Given the description of an element on the screen output the (x, y) to click on. 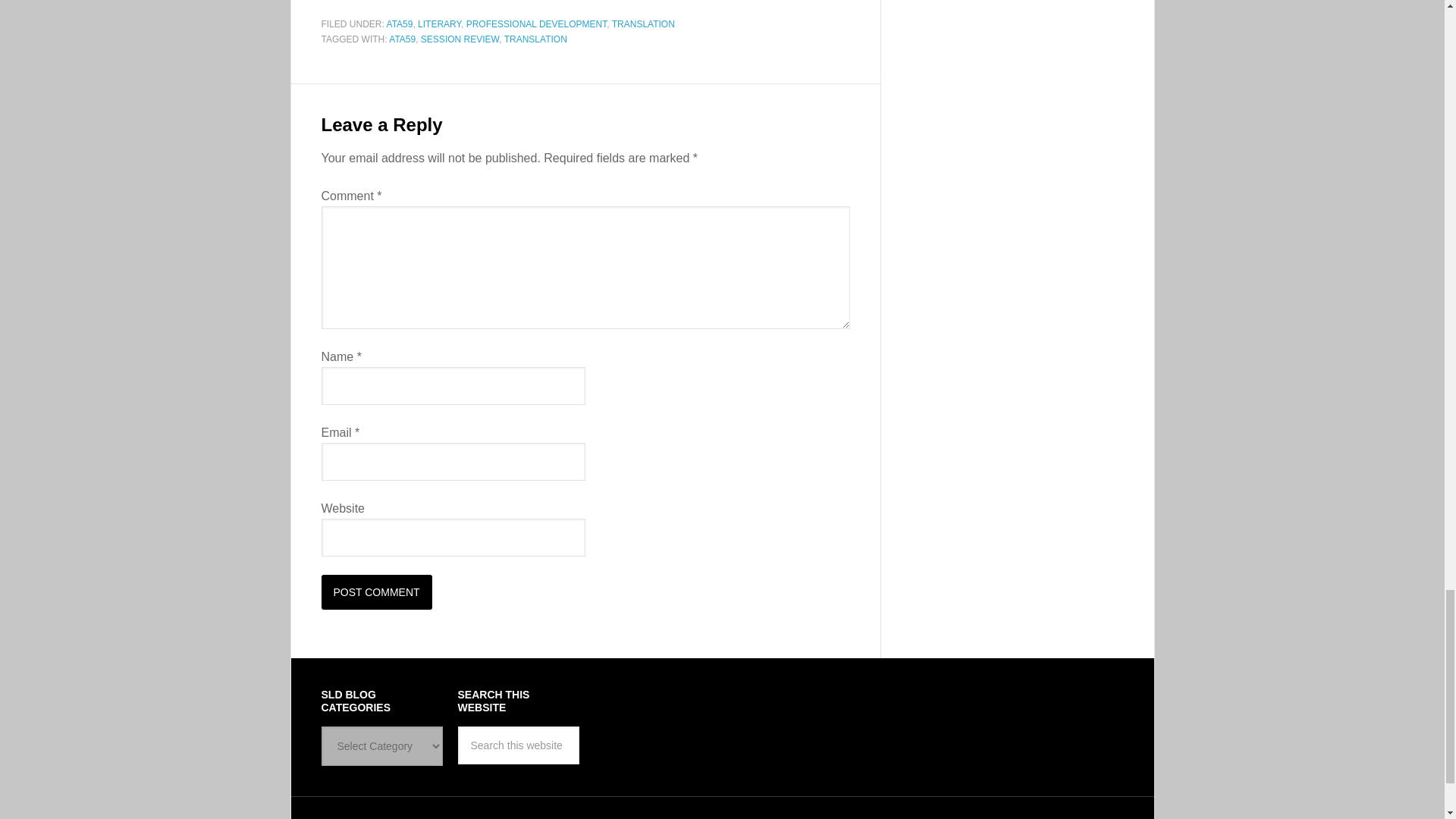
Post Comment (376, 591)
SESSION REVIEW (459, 39)
PROFESSIONAL DEVELOPMENT (536, 23)
Post Comment (376, 591)
LITERARY (439, 23)
ATA59 (401, 39)
ATA59 (400, 23)
TRANSLATION (535, 39)
TRANSLATION (643, 23)
